Given the description of an element on the screen output the (x, y) to click on. 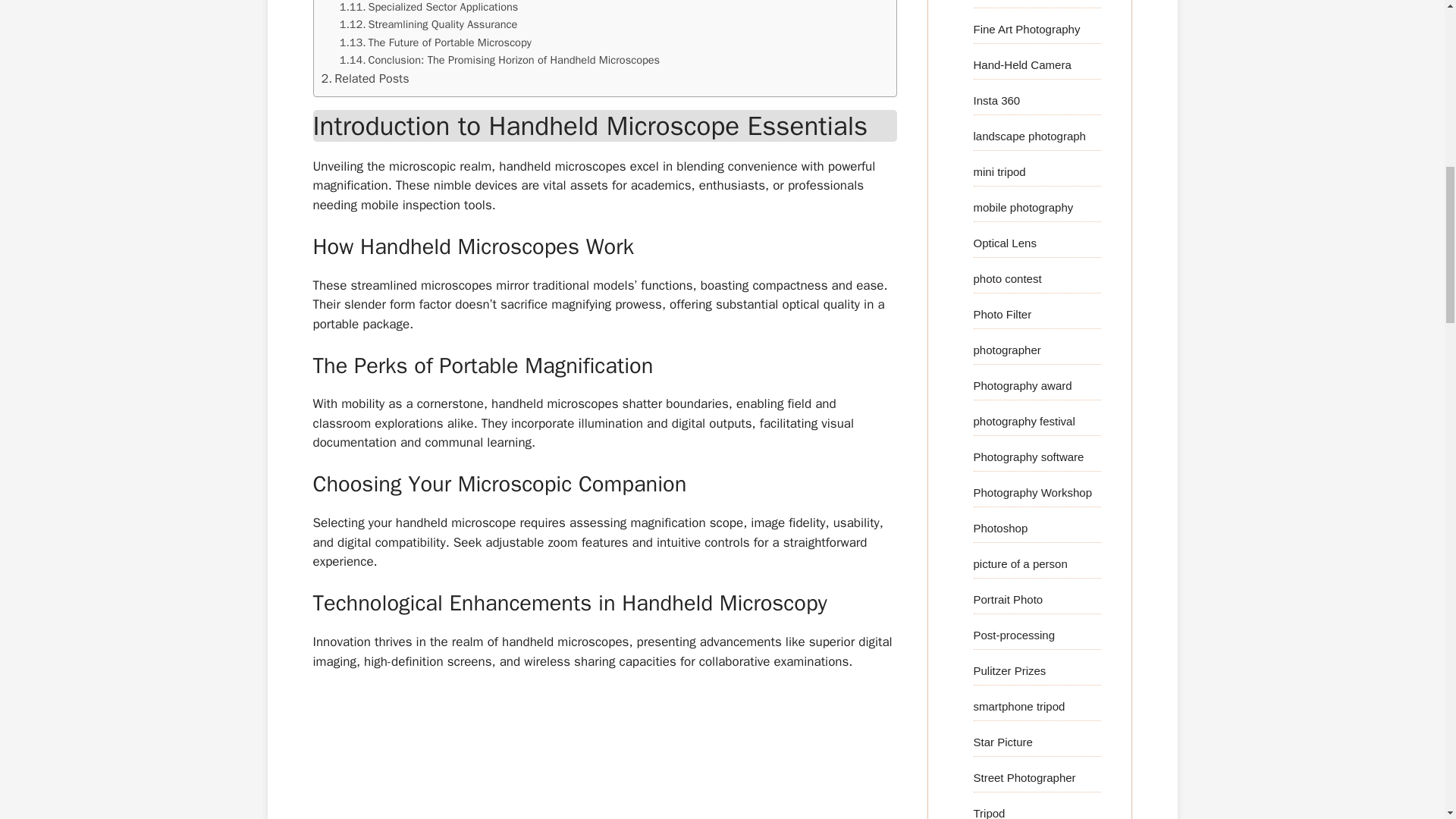
The Future of Portable Microscopy (435, 42)
The Future of Portable Microscopy (435, 42)
Conclusion: The Promising Horizon of Handheld Microscopes (499, 59)
Specialized Sector Applications (428, 7)
Related Posts (365, 78)
Streamlining Quality Assurance (428, 24)
Streamlining Quality Assurance (428, 24)
Specialized Sector Applications (428, 7)
